Given the description of an element on the screen output the (x, y) to click on. 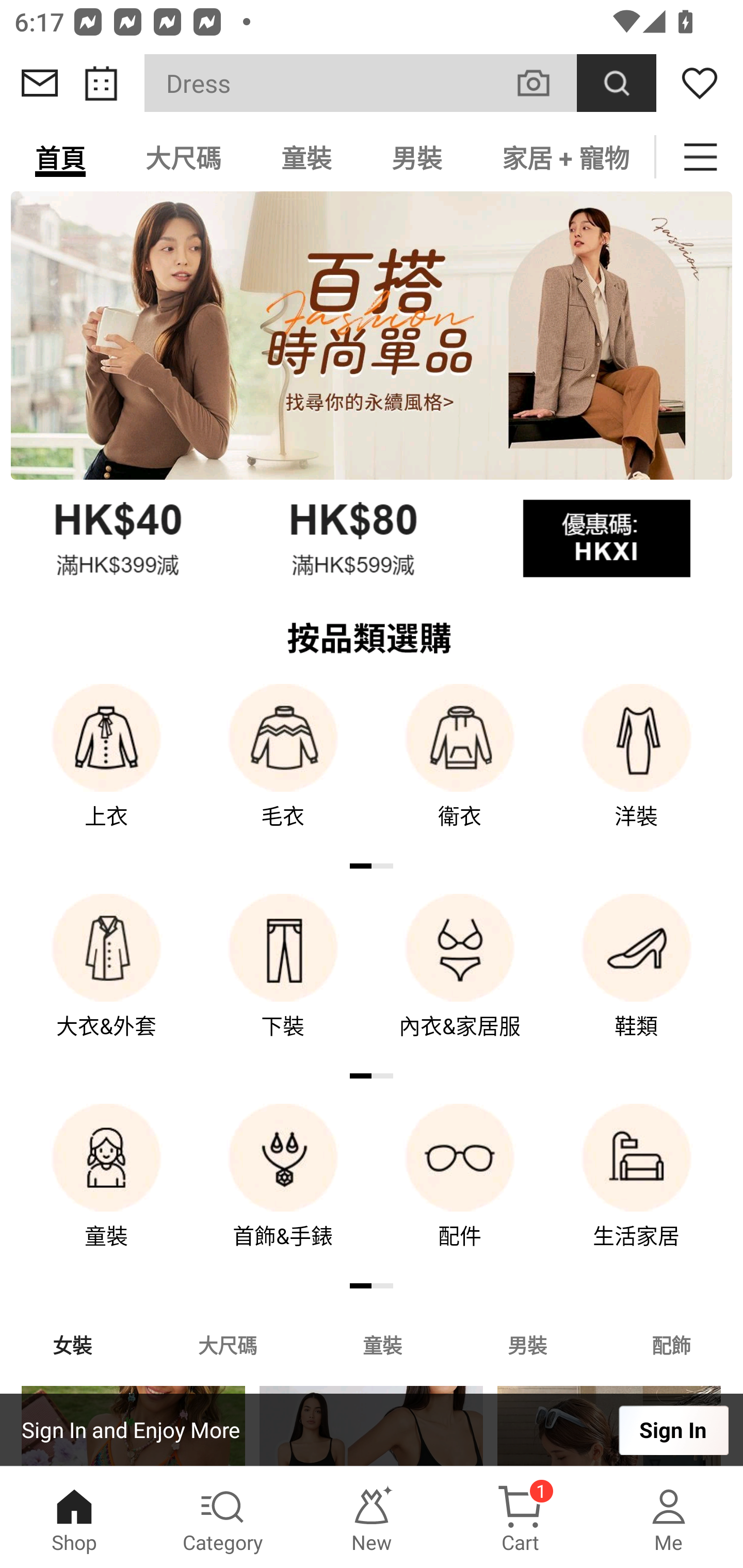
Wishlist (699, 82)
VISUAL SEARCH (543, 82)
首頁 (60, 156)
大尺碼 (183, 156)
童裝 (306, 156)
男裝 (416, 156)
家居 + 寵物 (563, 156)
上衣 (105, 769)
毛衣 (282, 769)
衛衣 (459, 769)
洋裝 (636, 769)
大衣&外套 (105, 979)
下裝 (282, 979)
內衣&家居服 (459, 979)
鞋類 (636, 979)
童裝 (105, 1189)
首飾&手錶 (282, 1189)
配件 (459, 1189)
生活家居 (636, 1189)
女裝 (72, 1344)
大尺碼 (226, 1344)
童裝 (381, 1344)
男裝 (527, 1344)
配飾 (671, 1344)
Sign In and Enjoy More Sign In (371, 1429)
Category (222, 1517)
New (371, 1517)
Cart 1 Cart (519, 1517)
Me (668, 1517)
